Given the description of an element on the screen output the (x, y) to click on. 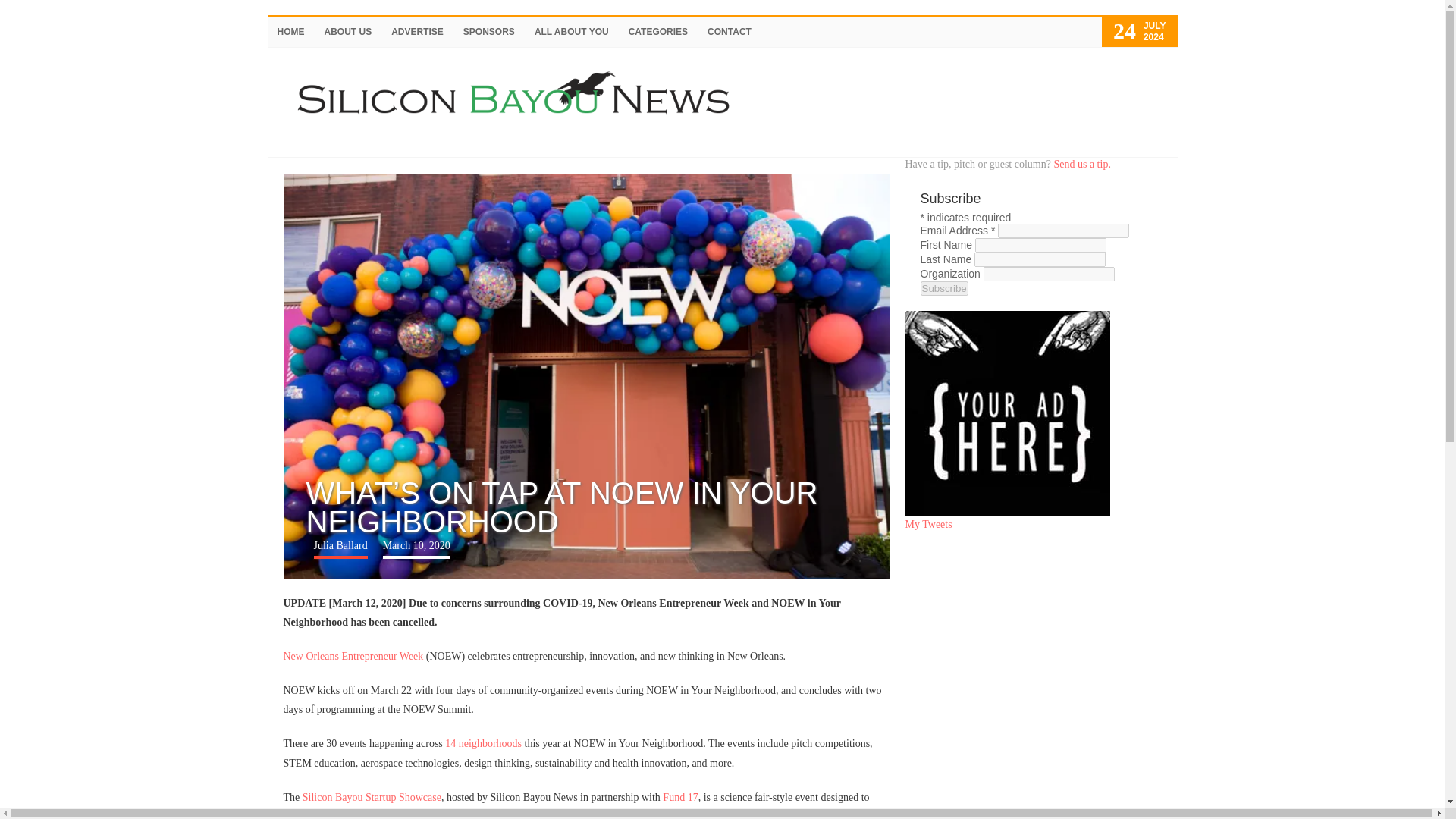
Subscribe (944, 288)
SPONSORS (488, 31)
The Shop at the CAC (580, 814)
CATEGORIES (657, 31)
ABOUT US (347, 31)
New Orleans Entrepreneur Week (353, 655)
Subscribe (944, 288)
CONTACT (729, 31)
Fund 17 (679, 797)
ALL ABOUT YOU (571, 31)
HOME (290, 31)
Silicon Bayou Startup Showcase (371, 797)
Send us a tip. (1080, 163)
ADVERTISE (416, 31)
My Tweets (928, 523)
